Given the description of an element on the screen output the (x, y) to click on. 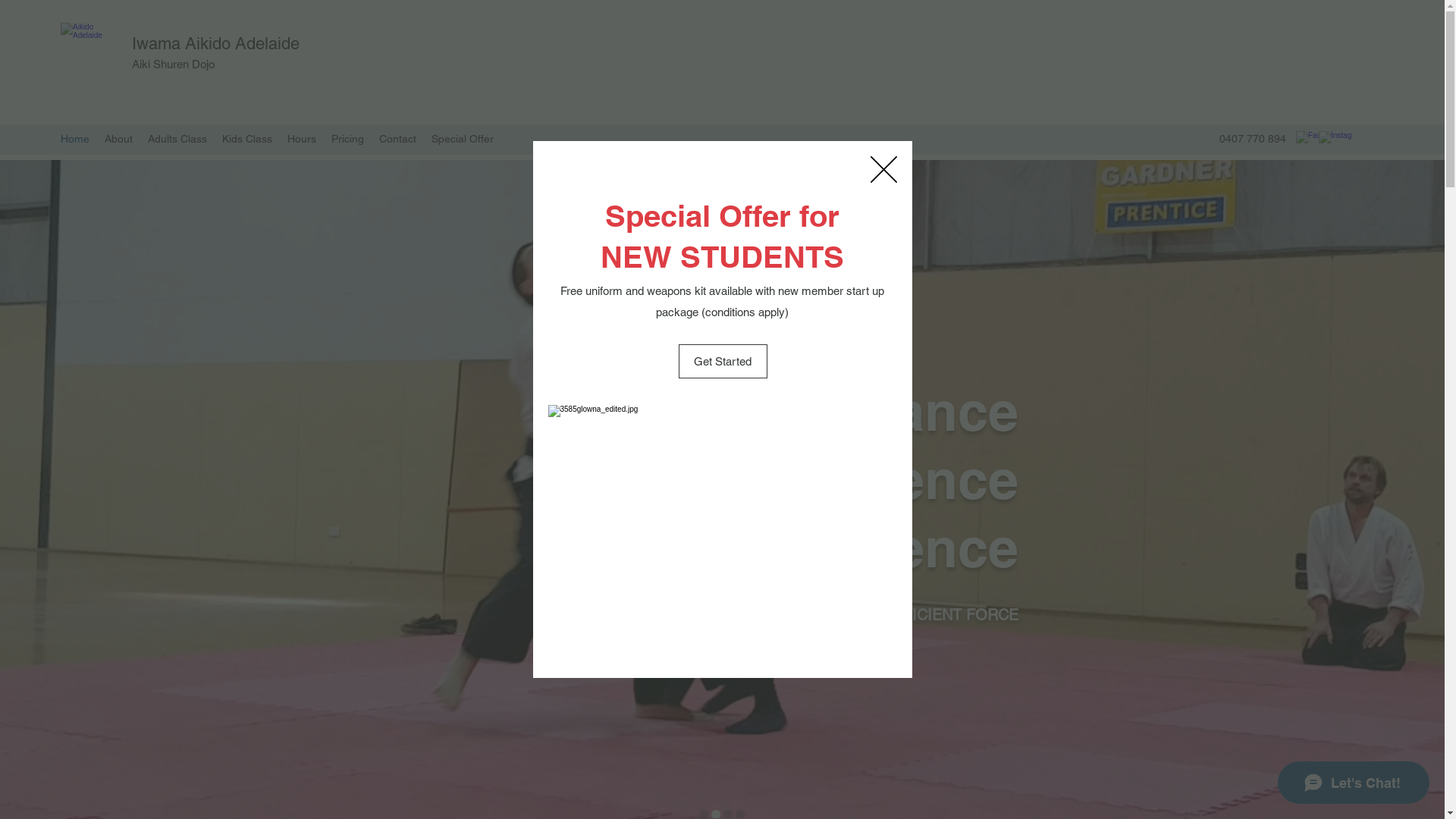
About Element type: text (118, 138)
Kids Class Element type: text (246, 138)
Contact Element type: text (397, 138)
Iwama Aikido Adelaide Element type: text (215, 43)
Back to site Element type: hover (883, 169)
Adults Class Element type: text (177, 138)
Get Started Element type: text (721, 361)
Pricing Element type: text (347, 138)
Special Offer Element type: text (462, 138)
Hours Element type: text (301, 138)
Home Element type: text (75, 138)
